Given the description of an element on the screen output the (x, y) to click on. 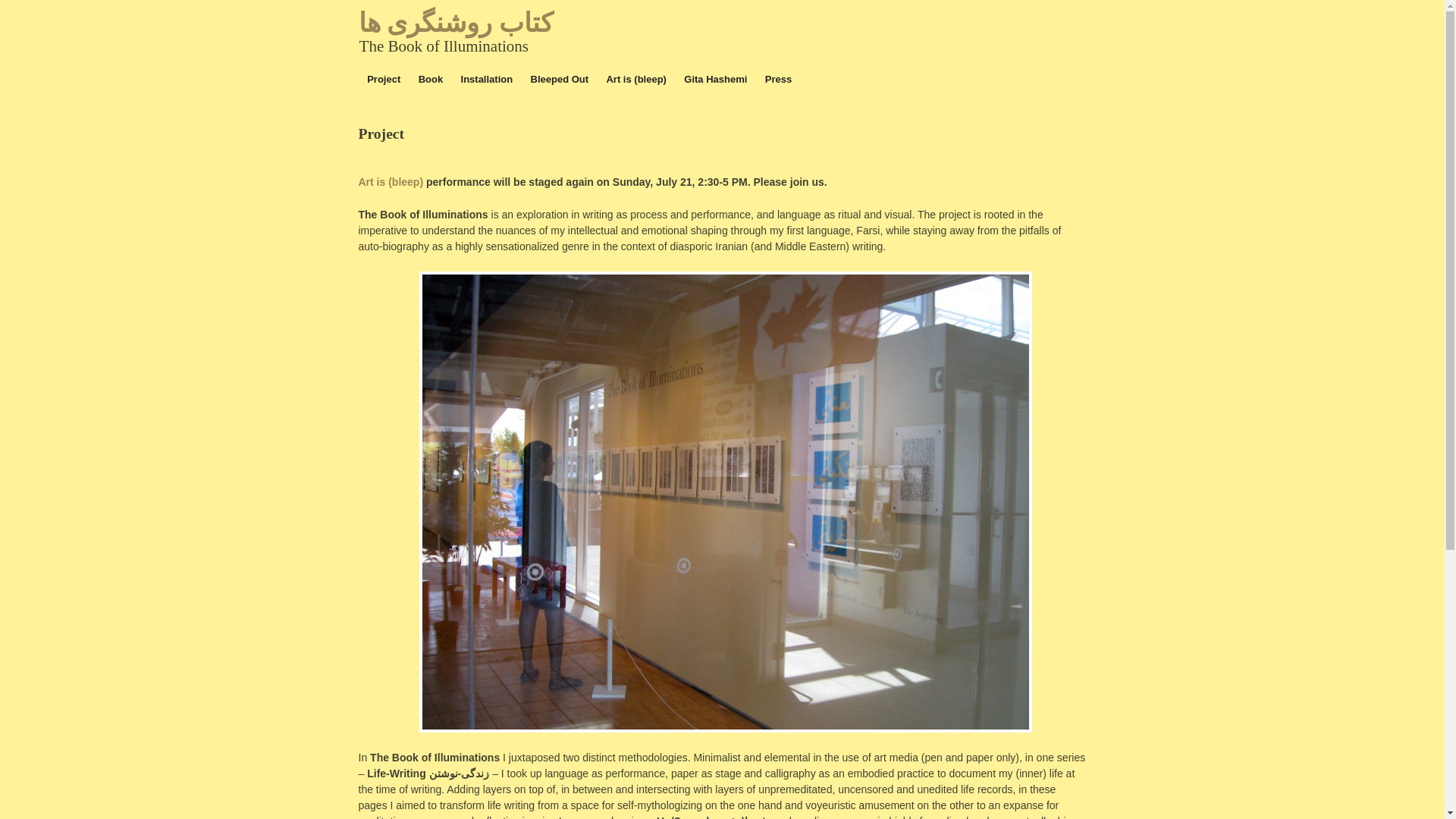
Gita Hashemi (715, 79)
Press (777, 79)
Book (430, 79)
Project (383, 79)
Installation (486, 79)
Bleeped Out (558, 79)
